Given the description of an element on the screen output the (x, y) to click on. 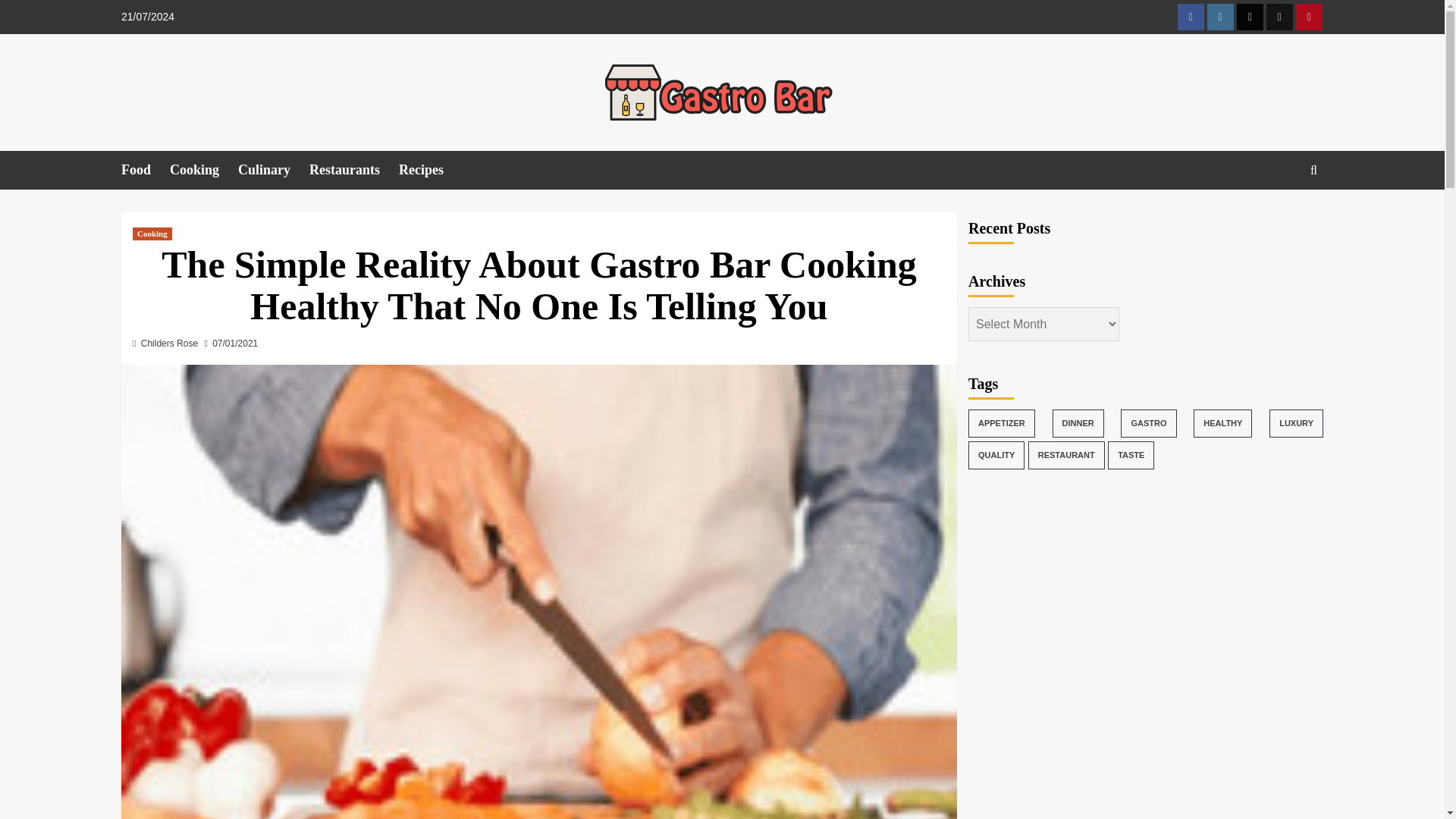
Facebook (1190, 17)
Restaurants (353, 169)
Recipes (430, 169)
Cooking (204, 169)
TikTok (1279, 17)
Pinterest (1308, 17)
Twitter (1249, 17)
APPETIZER (1001, 423)
Cooking (151, 233)
Culinary (273, 169)
Childers Rose (169, 343)
Search (1278, 216)
Instagram (1220, 17)
Food (145, 169)
